Given the description of an element on the screen output the (x, y) to click on. 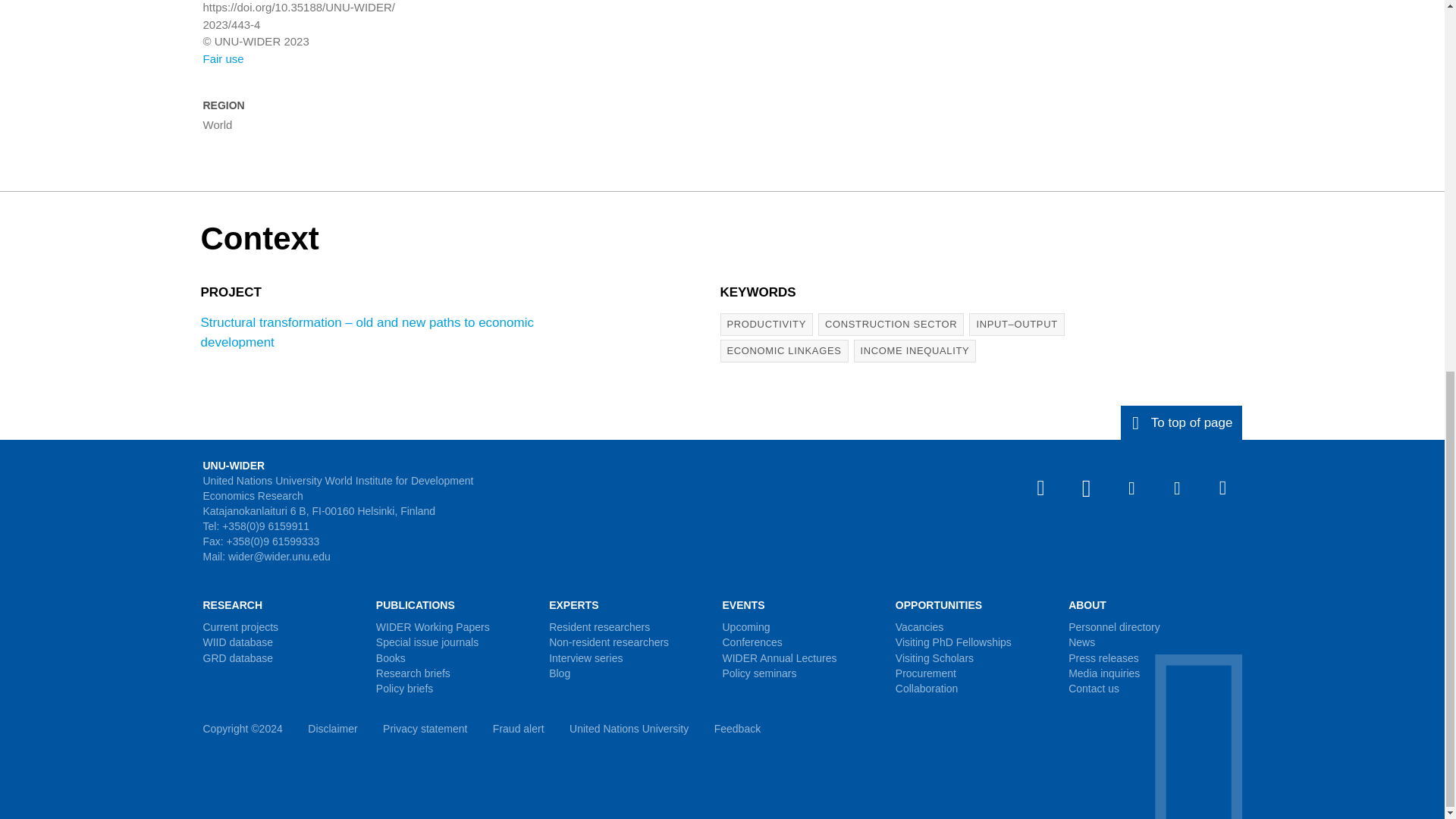
To top of page (1181, 422)
To top of page (1181, 422)
jump to the top of the page (1181, 422)
